Given the description of an element on the screen output the (x, y) to click on. 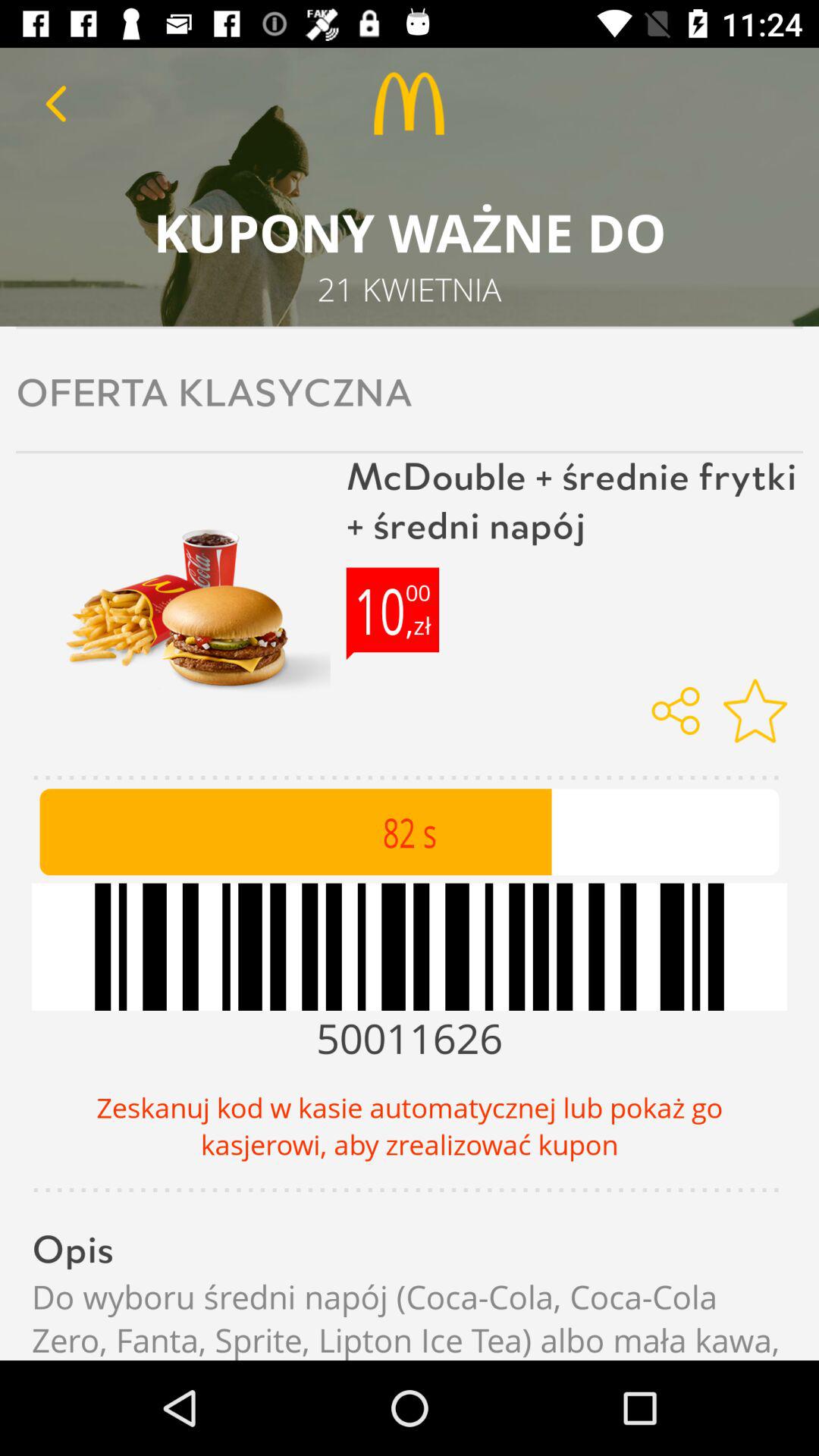
type the message (55, 103)
